Given the description of an element on the screen output the (x, y) to click on. 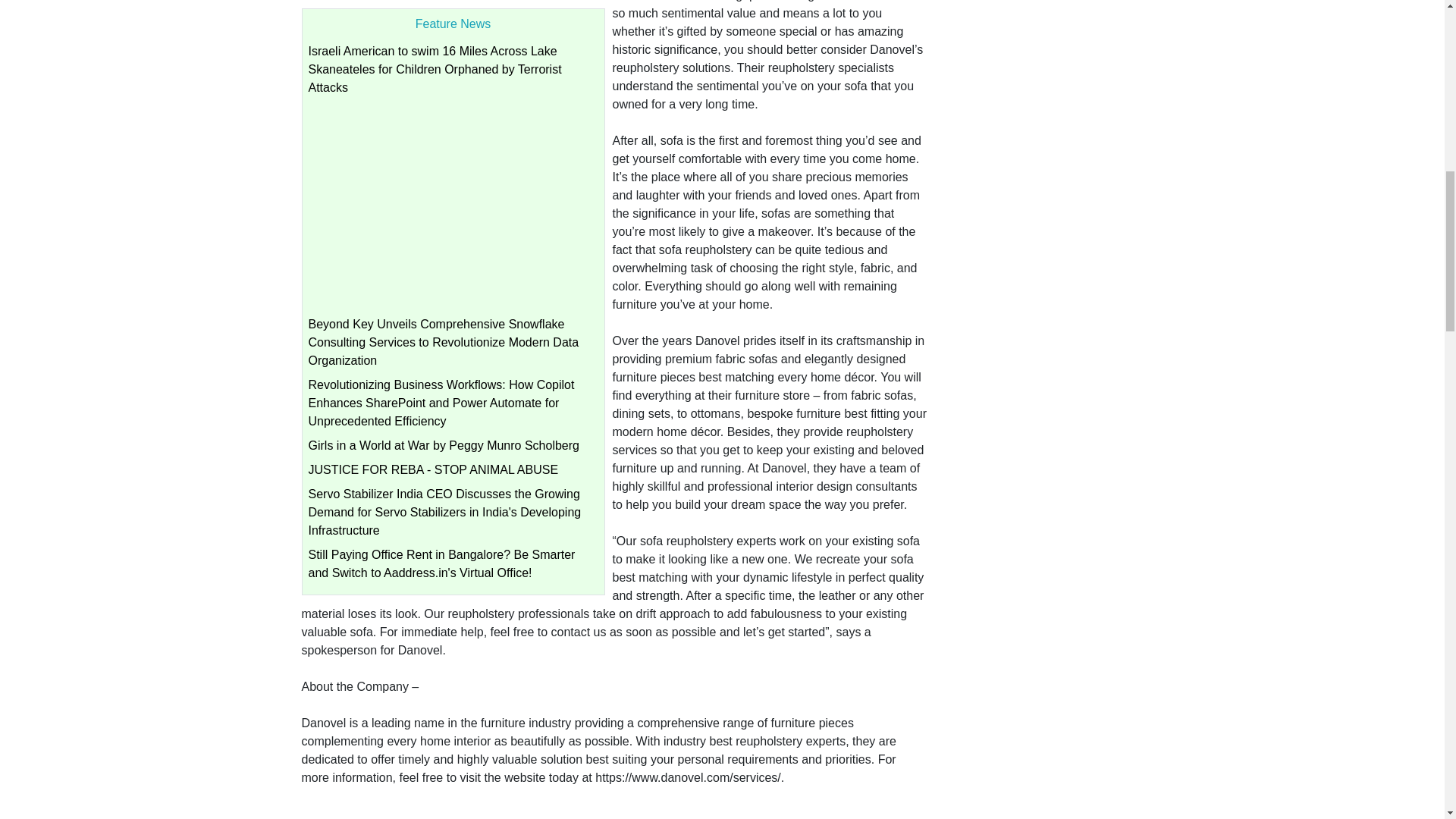
Girls in a World at War by Peggy Munro Scholberg (442, 445)
Advertisement (614, 806)
JUSTICE FOR REBA - STOP ANIMAL ABUSE (432, 469)
Advertisement (451, 209)
